Given the description of an element on the screen output the (x, y) to click on. 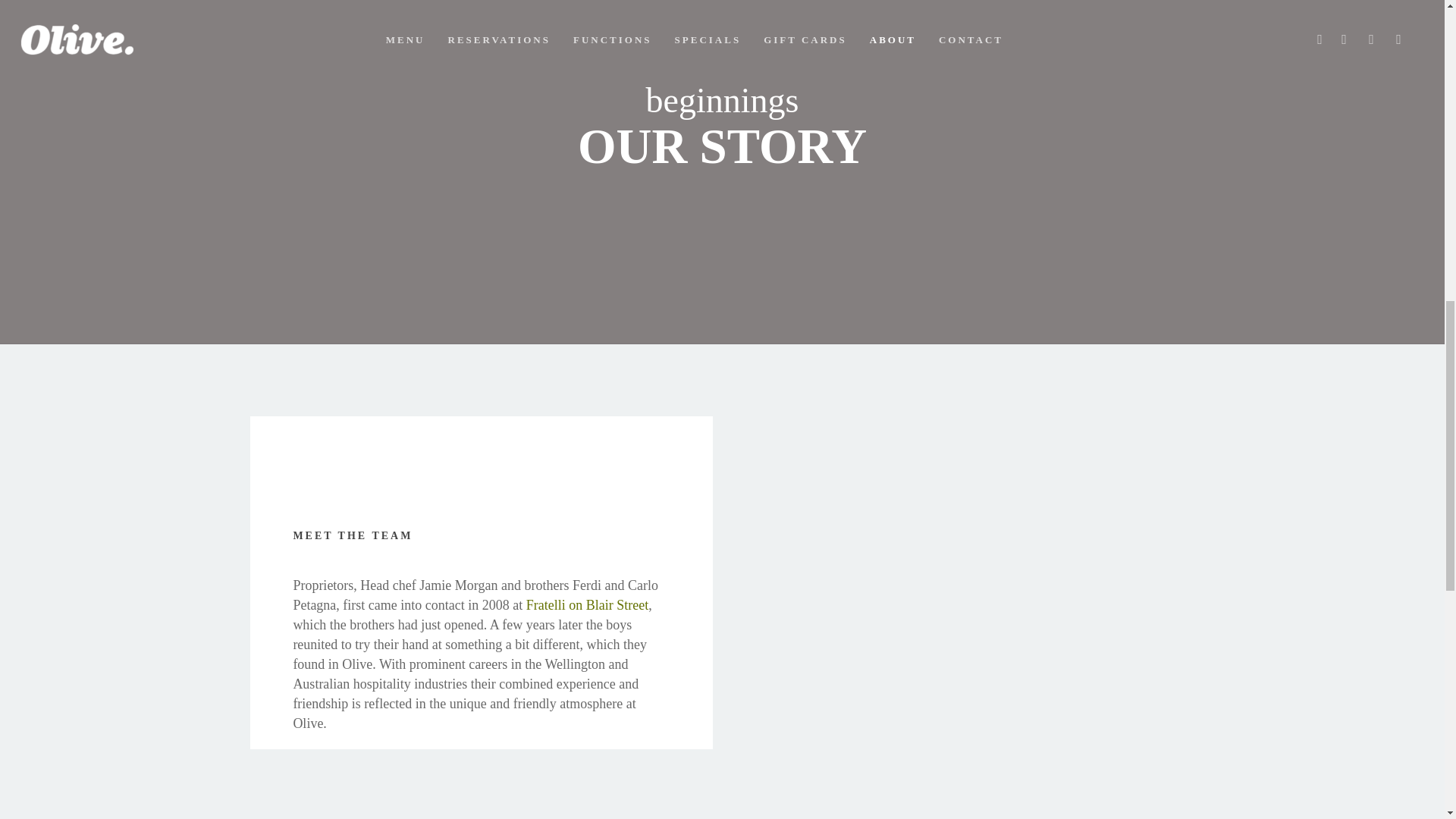
Fratelli on Blair Street (586, 604)
